Given the description of an element on the screen output the (x, y) to click on. 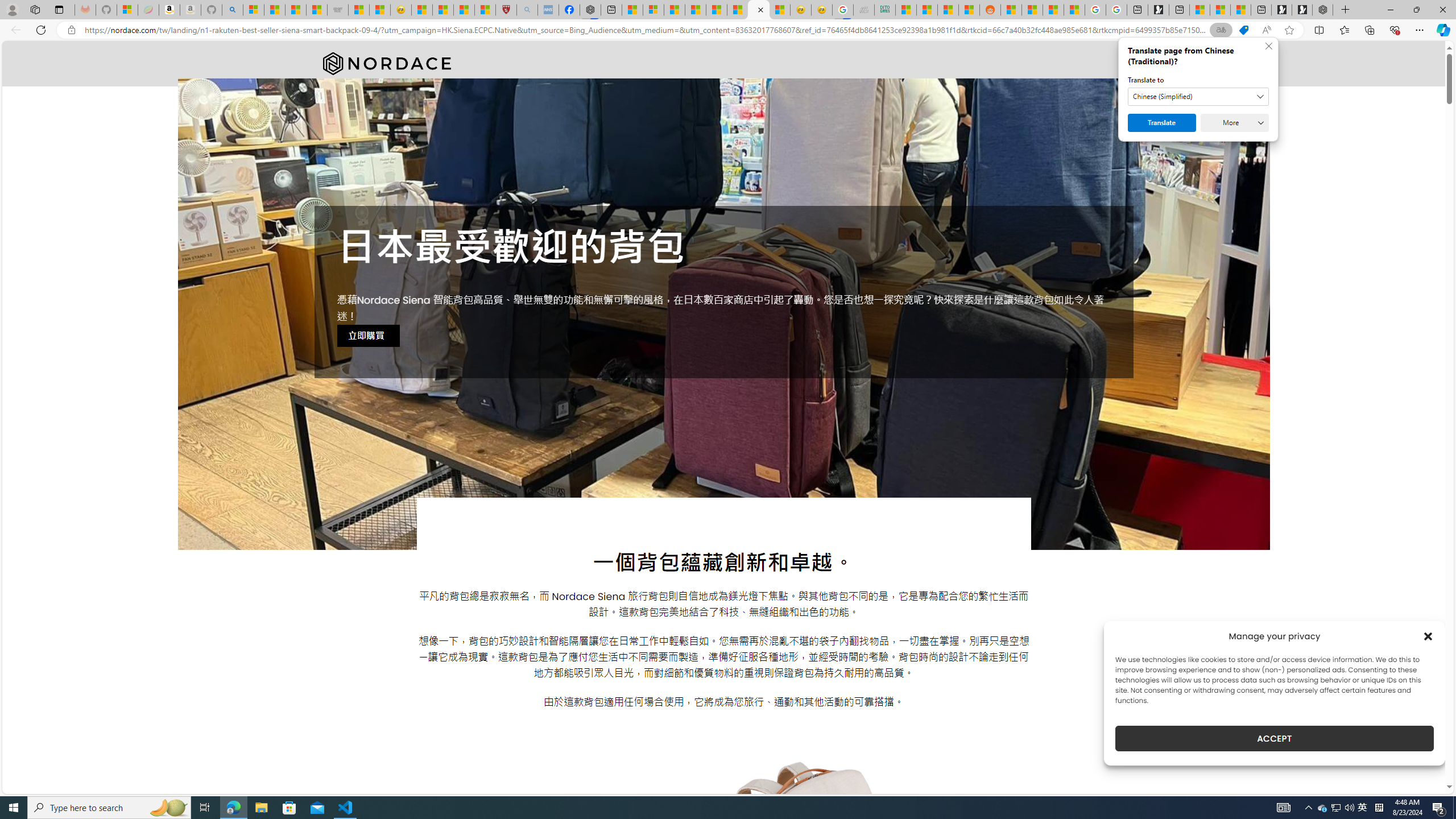
Show translate options (1220, 29)
Class: cmplz-close (1428, 636)
These 3 Stocks Pay You More Than 5% to Own Them (1240, 9)
ACCEPT (1274, 738)
